Given the description of an element on the screen output the (x, y) to click on. 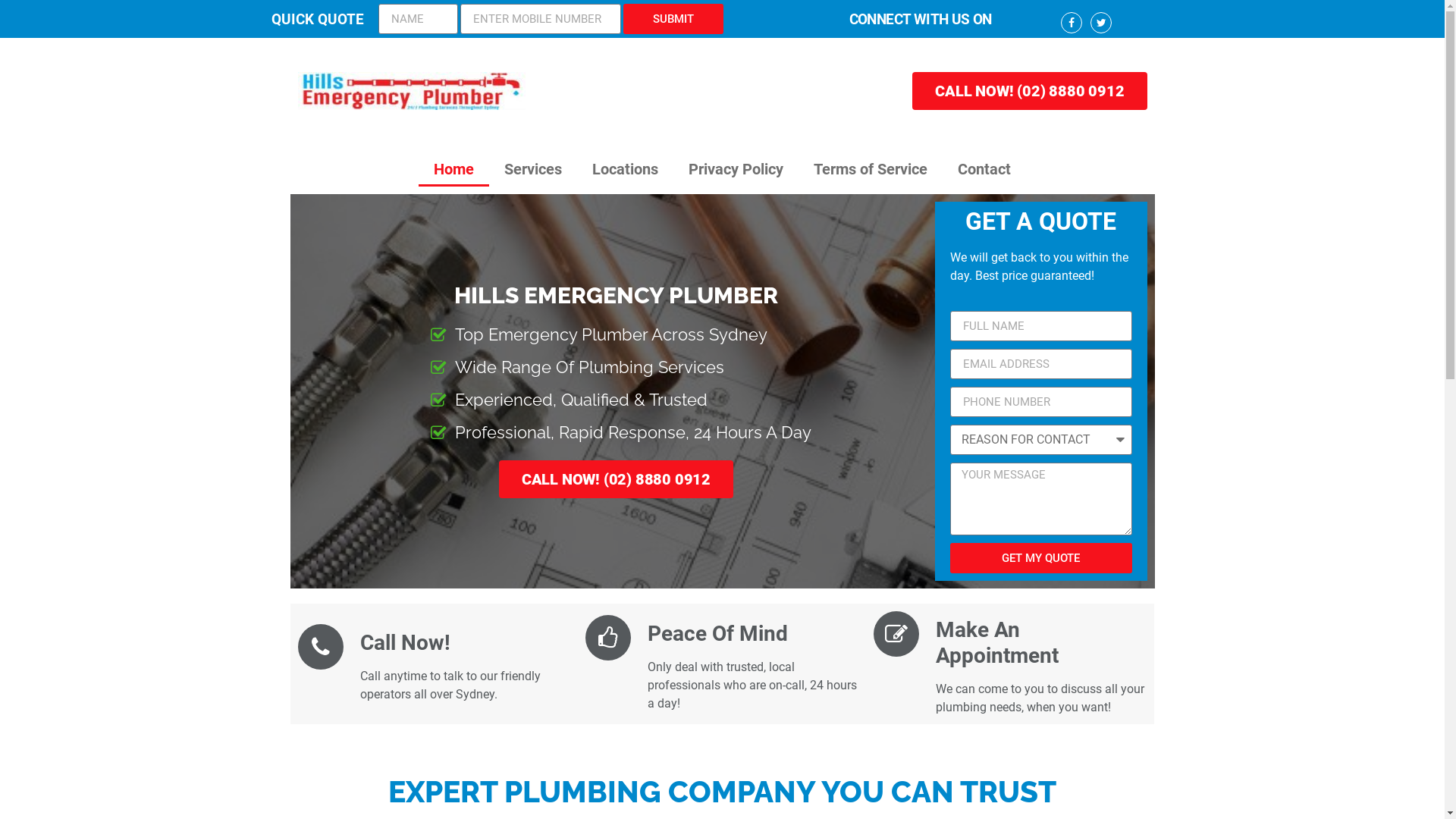
Contact Element type: text (984, 168)
Locations Element type: text (625, 168)
GET MY QUOTE Element type: text (1040, 557)
Home Element type: text (453, 168)
Terms of Service Element type: text (870, 168)
SUBMIT Element type: text (673, 18)
CALL NOW! (02) 8880 0912 Element type: text (615, 479)
Services Element type: text (533, 168)
Privacy Policy Element type: text (735, 168)
CALL NOW! (02) 8880 0912 Element type: text (1029, 90)
